Given the description of an element on the screen output the (x, y) to click on. 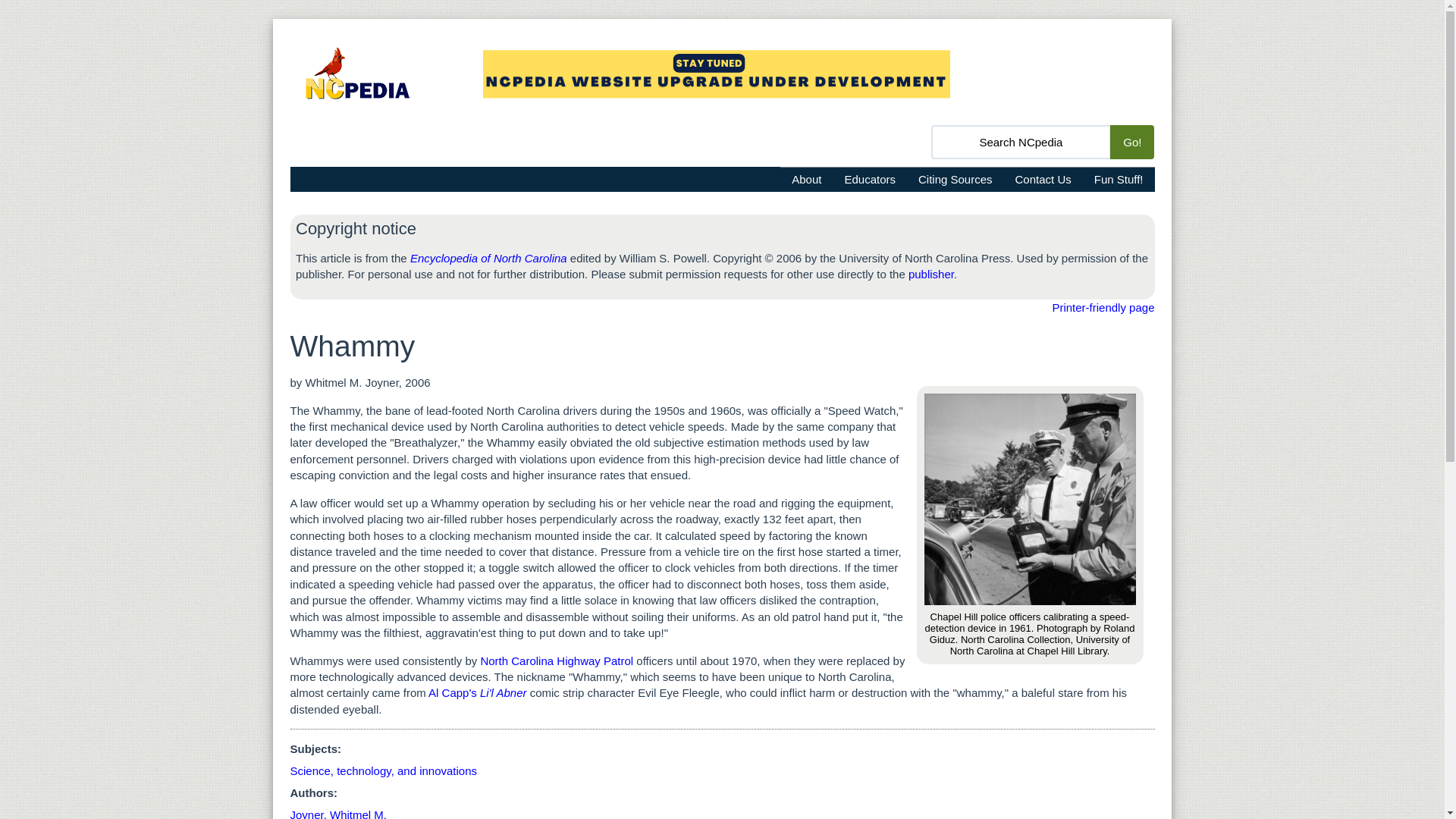
Encyclopedia of North Carolina (488, 257)
Al Capp's Li'l Abner (476, 692)
Fun Stuff! (1118, 178)
Display a PDF version of this page. (1102, 307)
Go! (1131, 141)
publisher (930, 273)
Science, technology, and innovations (383, 770)
Printer-friendly page (1102, 307)
NCpedia Fun Stuff Page (1118, 178)
Contact Us (1043, 178)
